Given the description of an element on the screen output the (x, y) to click on. 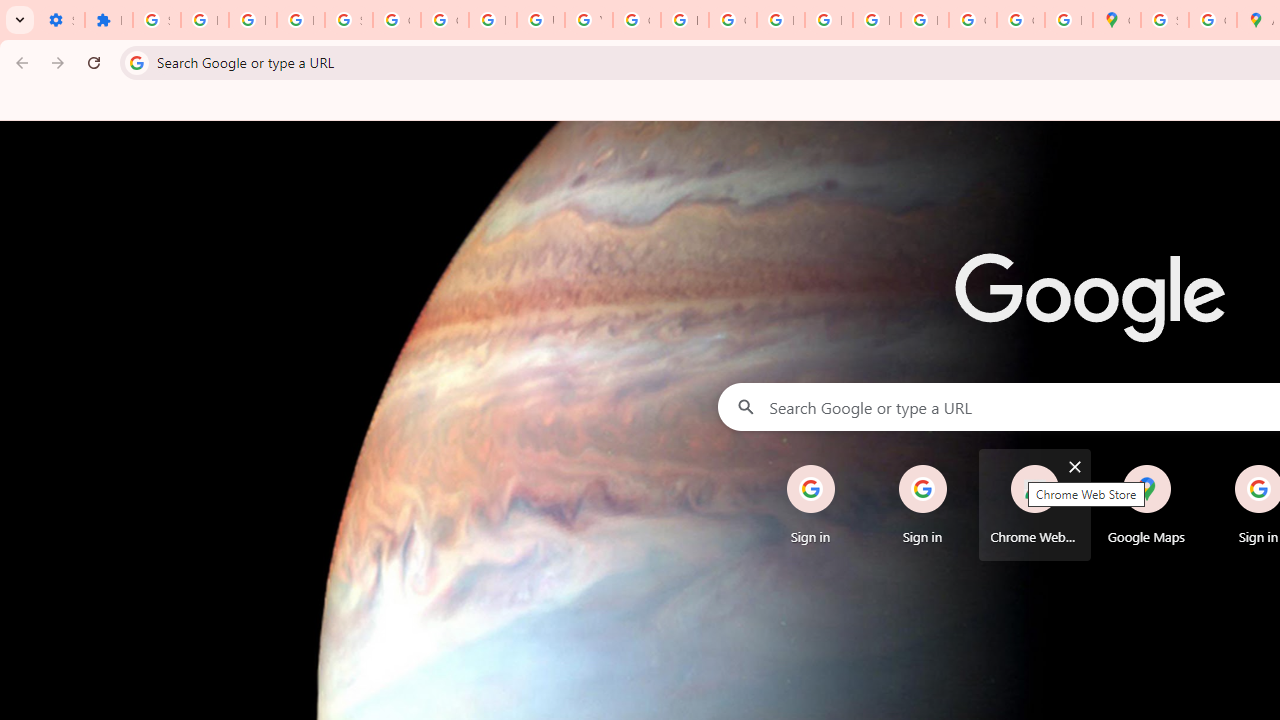
Sign in - Google Accounts (1164, 20)
Sign in - Google Accounts (156, 20)
YouTube (588, 20)
Privacy Help Center - Policies Help (780, 20)
Chrome Web Store (1033, 504)
Delete photos & videos - Computer - Google Photos Help (204, 20)
